Given the description of an element on the screen output the (x, y) to click on. 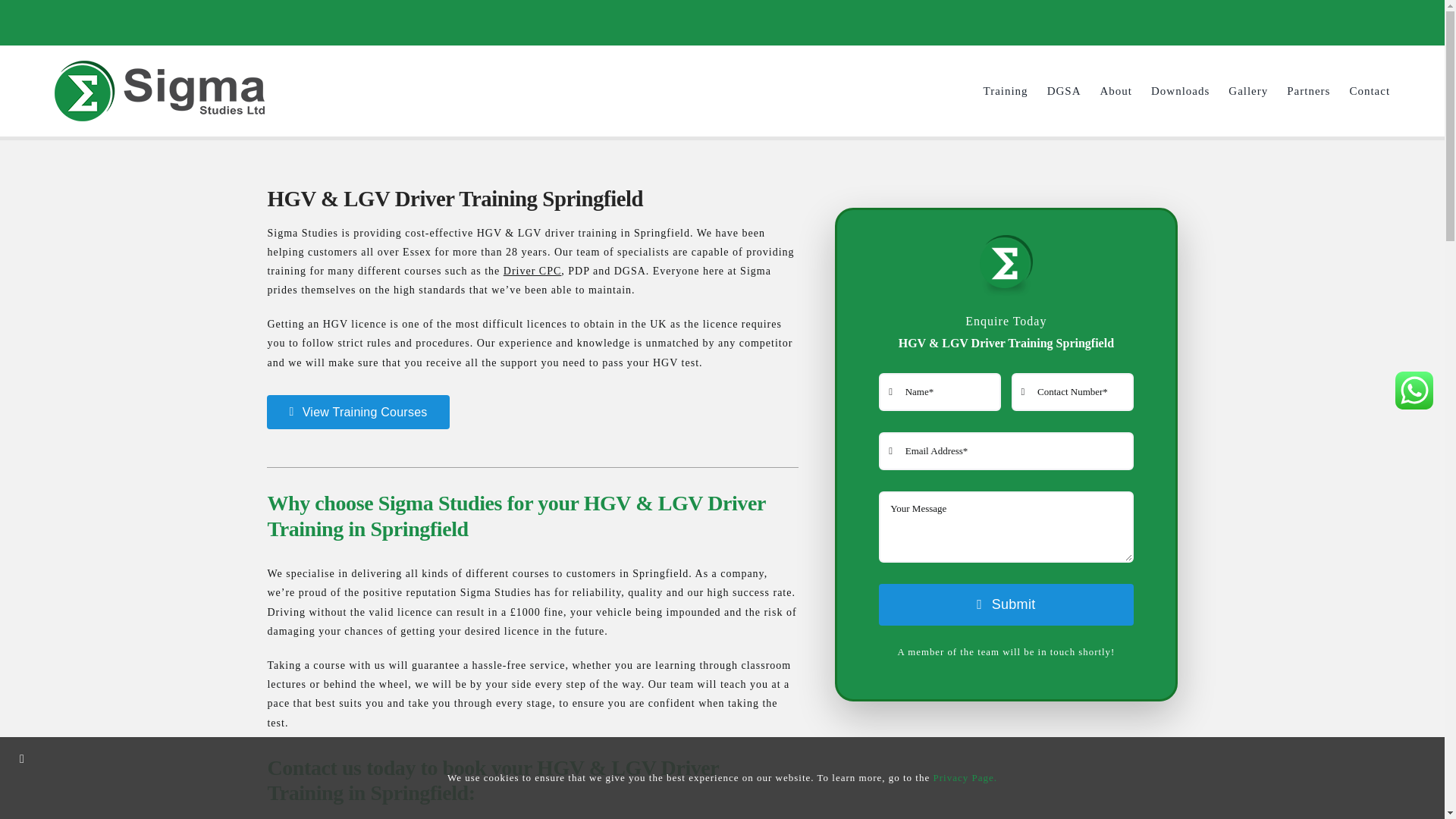
Submit (1005, 604)
Training (1004, 90)
About (1115, 90)
Driver CPC (532, 270)
Gallery (1248, 90)
Downloads (1180, 90)
View Training Courses (357, 411)
Partners (1308, 90)
Sigma Logo 1 (1005, 261)
DGSA (1063, 90)
Contact (1369, 90)
